Given the description of an element on the screen output the (x, y) to click on. 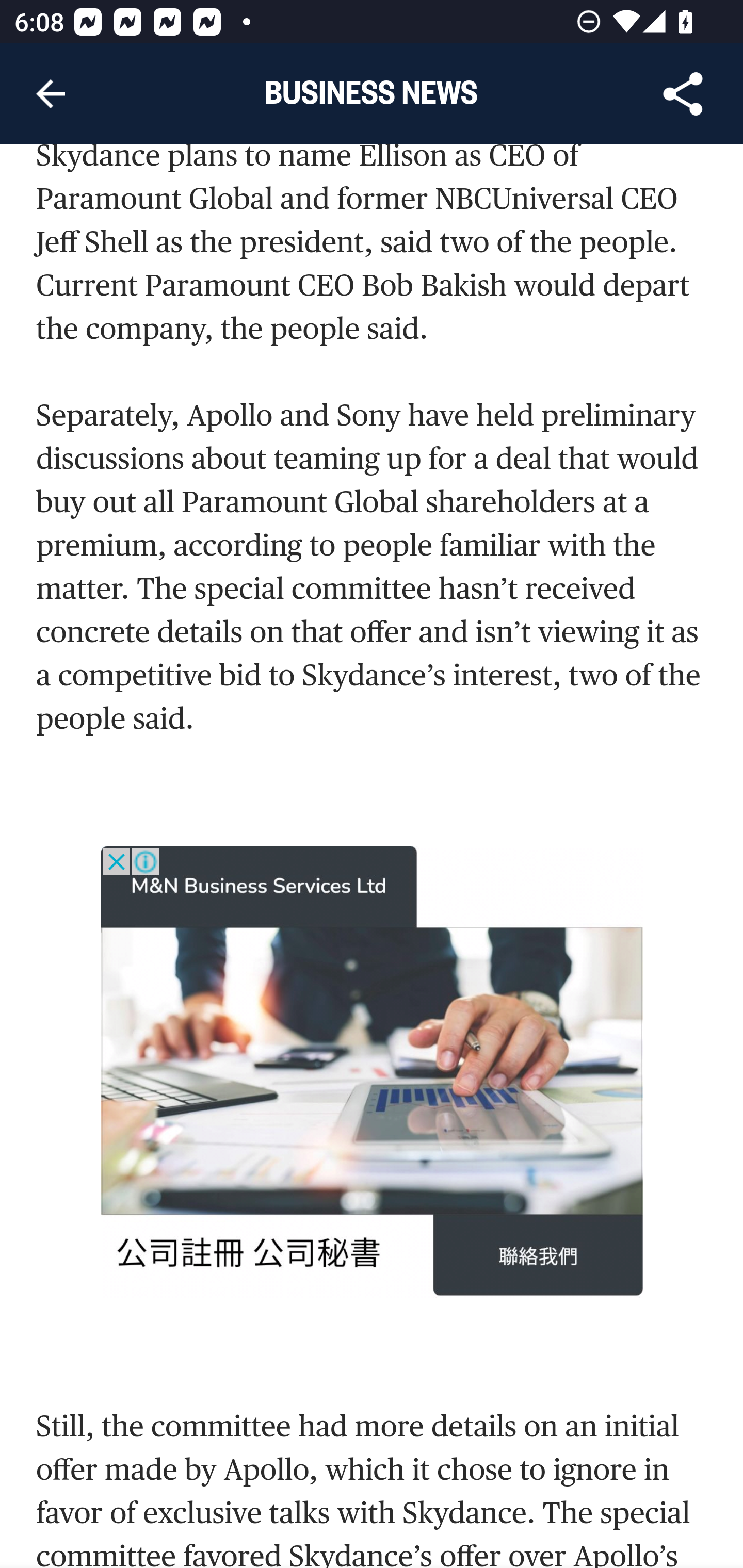
Navigate up (50, 93)
Share Article, button (683, 94)
www.mnnbus (372, 1072)
